Given the description of an element on the screen output the (x, y) to click on. 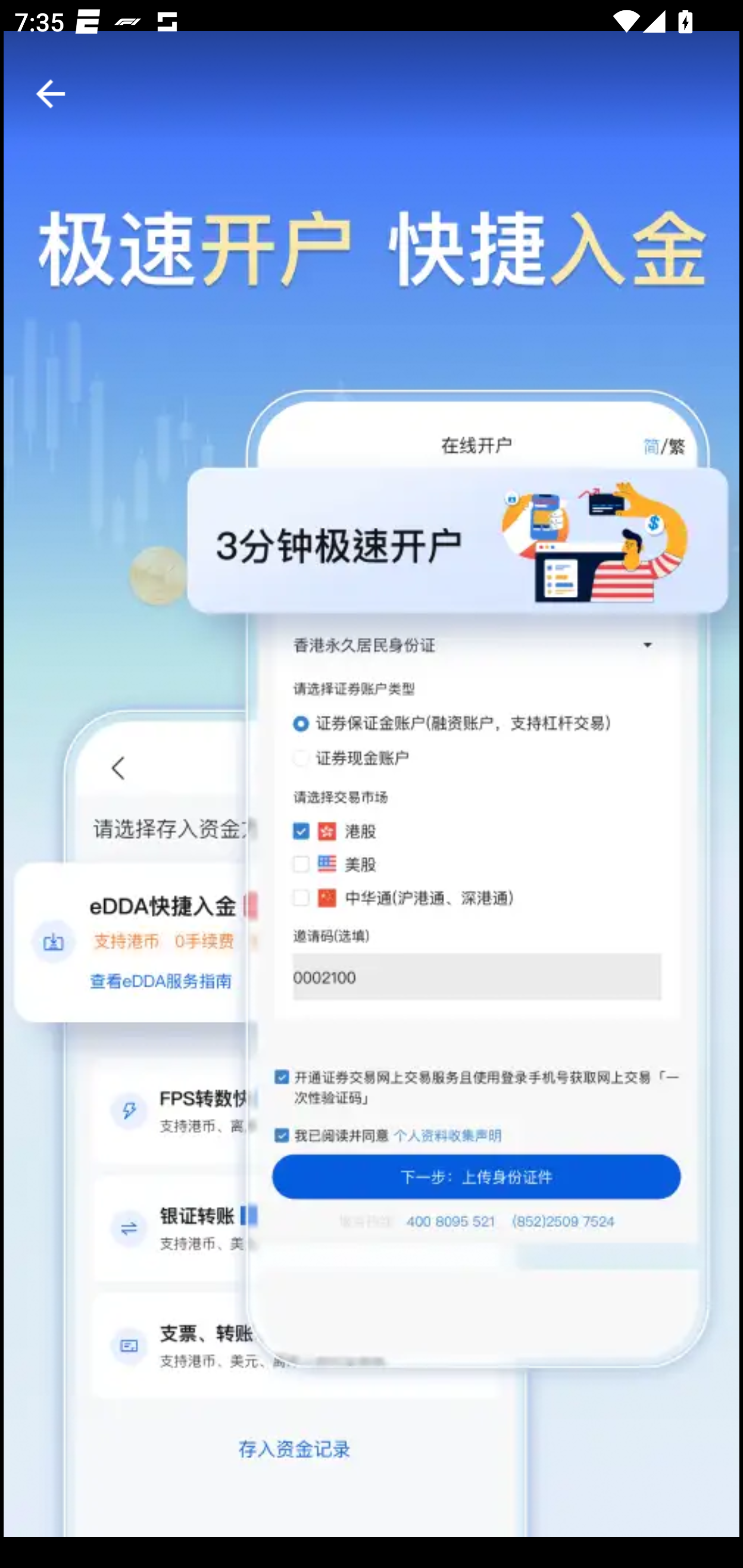
Back (50, 93)
